Given the description of an element on the screen output the (x, y) to click on. 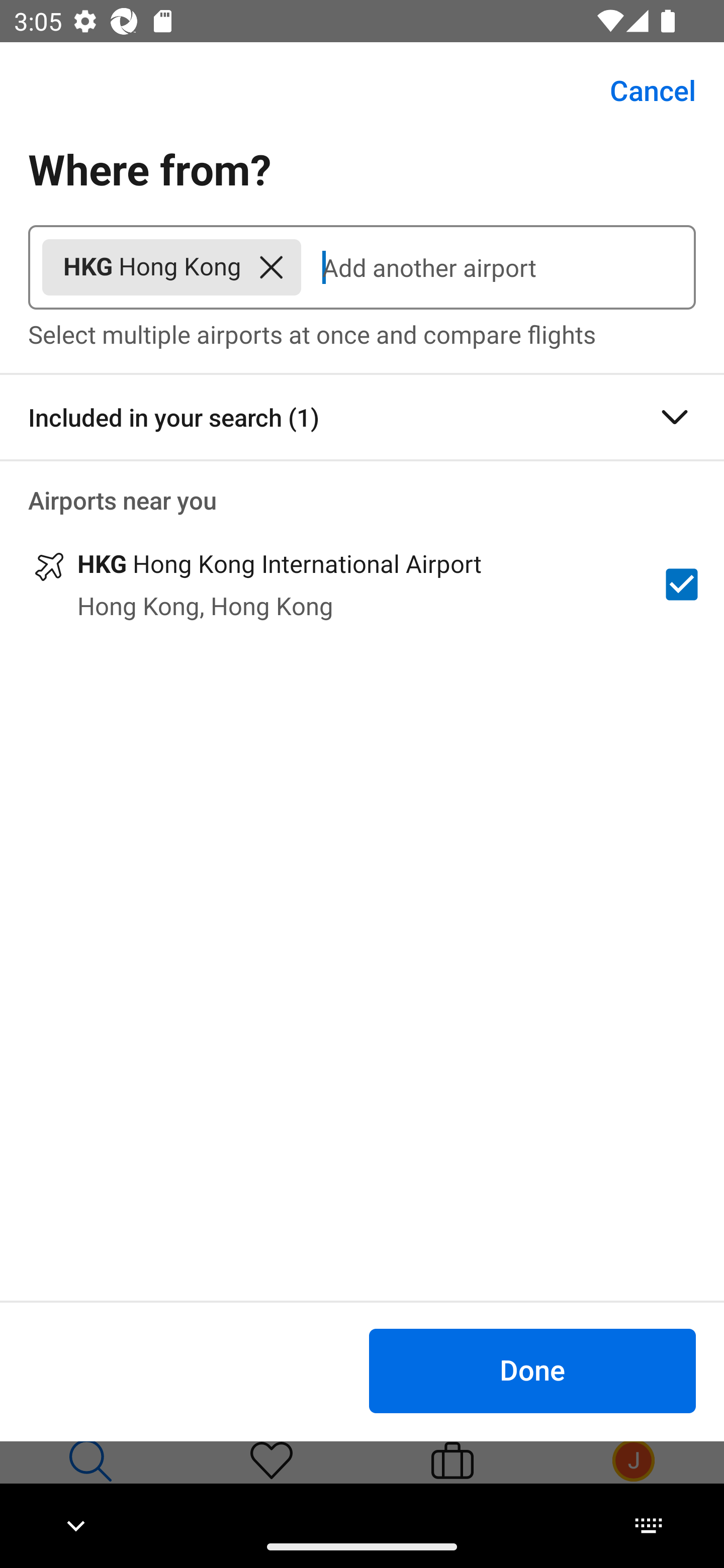
Cancel (641, 90)
Add another airport (498, 266)
HKG Hong Kong Remove HKG Hong Kong (171, 266)
Included in your search (1) (362, 416)
Done (532, 1370)
